Given the description of an element on the screen output the (x, y) to click on. 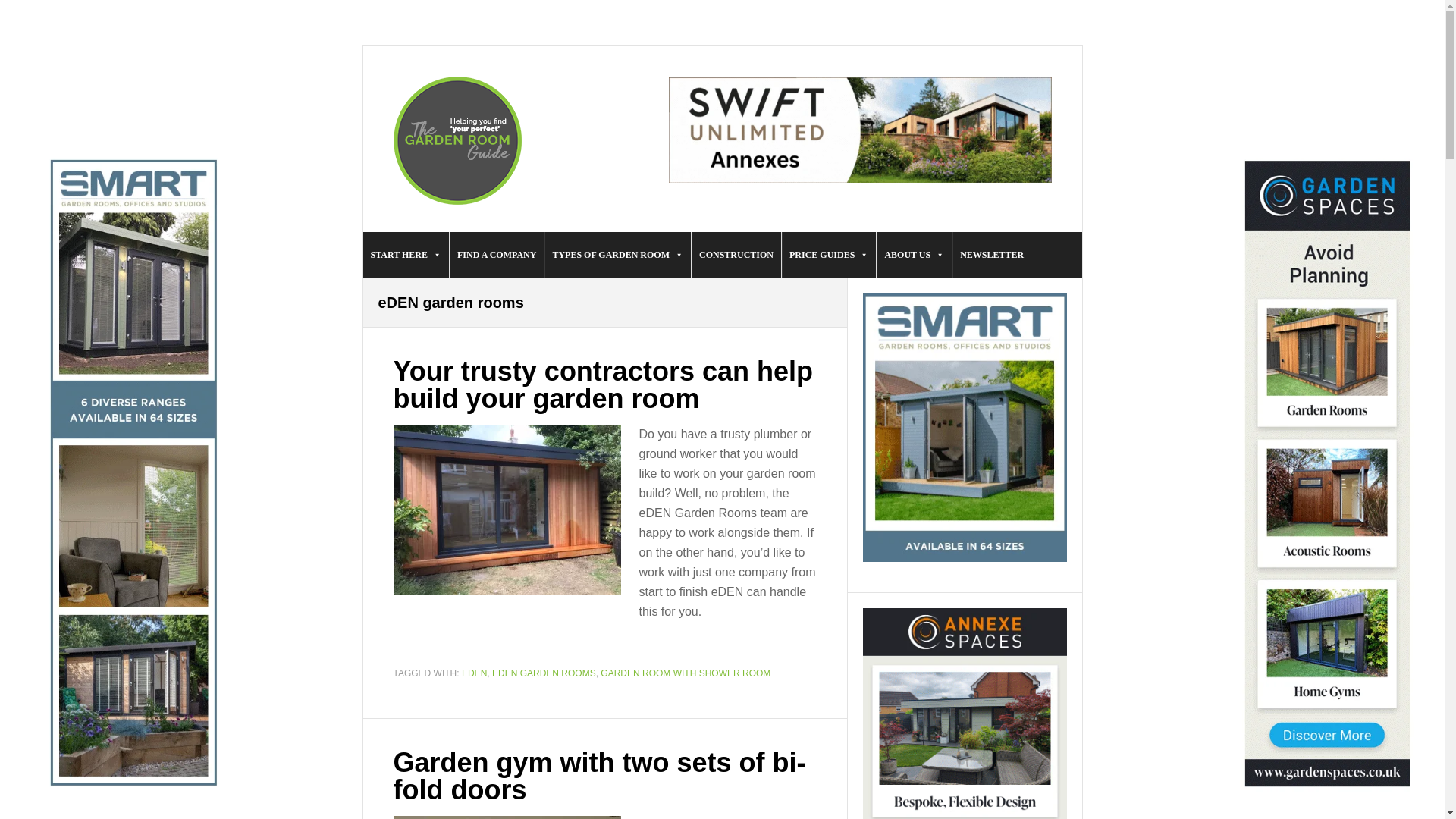
TYPES OF GARDEN ROOM (617, 254)
2021 TGRG Logo (457, 140)
START HERE (405, 254)
FIND A COMPANY (496, 254)
